Given the description of an element on the screen output the (x, y) to click on. 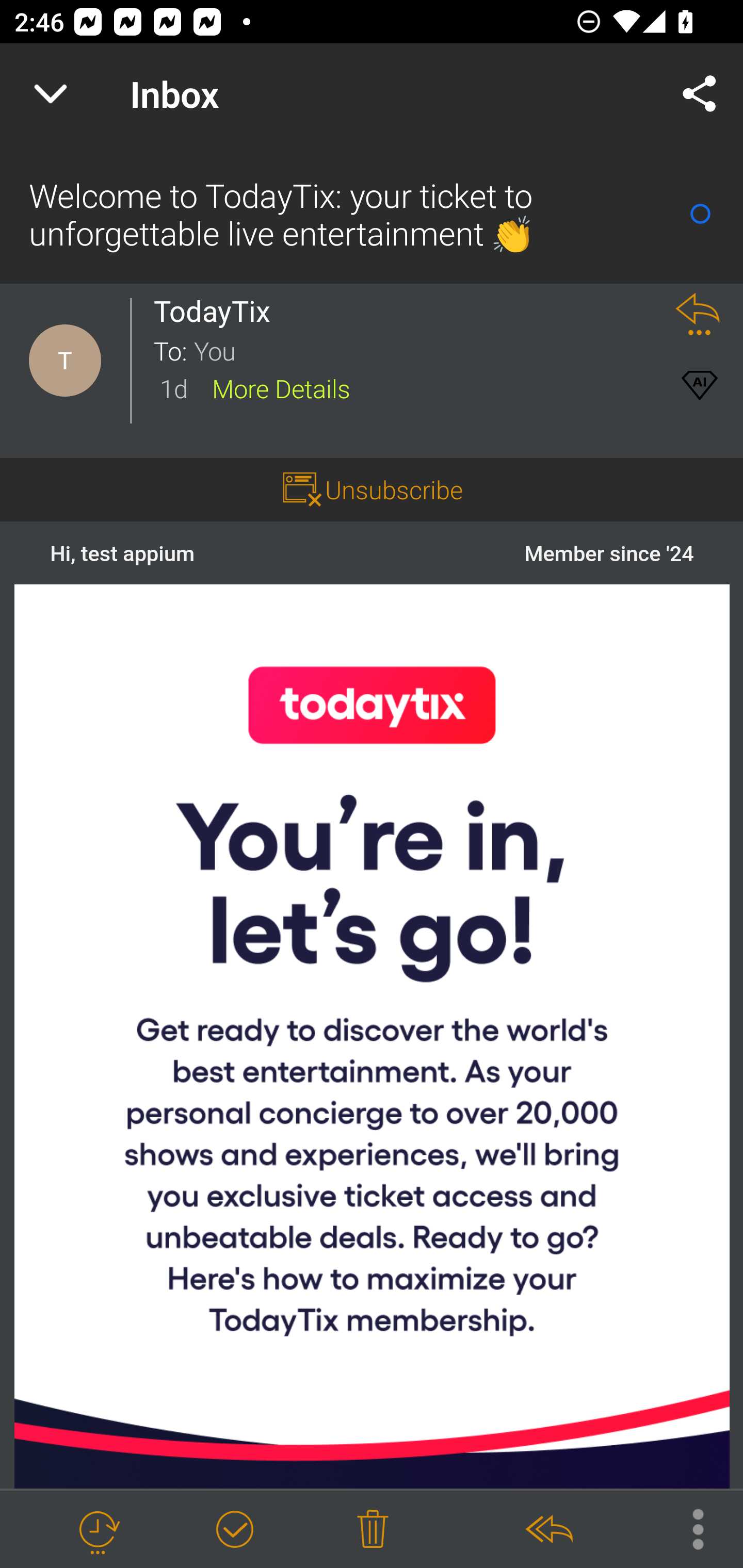
Navigate up (50, 93)
Share (699, 93)
Mark as Read (699, 213)
TodayTix (216, 310)
Contact Details (64, 360)
More Details (280, 387)
Unsubscribe (393, 488)
More Options (687, 1528)
Snooze (97, 1529)
Mark as Done (234, 1529)
Delete (372, 1529)
Reply All (548, 1529)
